Given the description of an element on the screen output the (x, y) to click on. 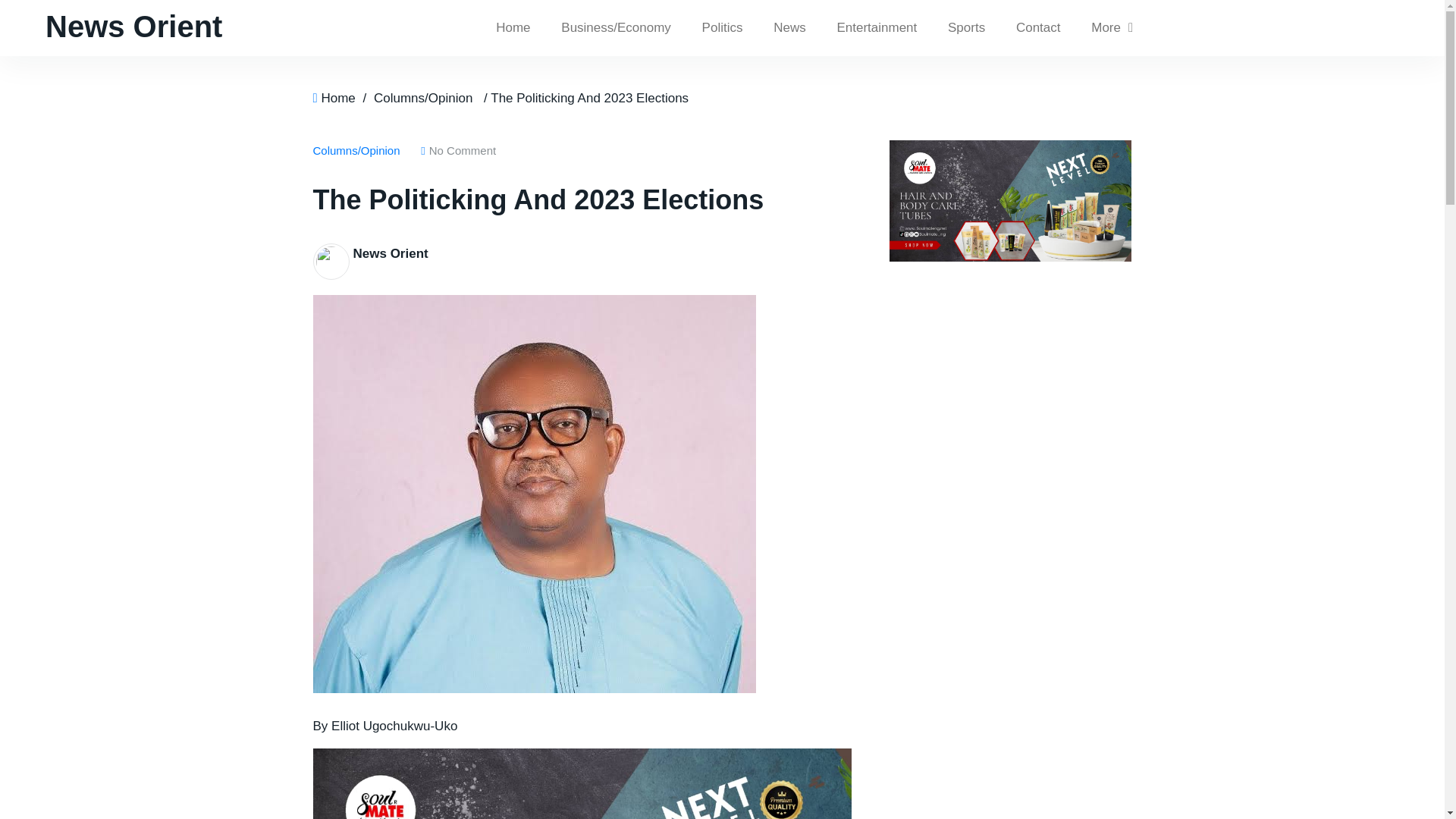
Entertainment (876, 28)
Home (512, 28)
Home (337, 97)
News (789, 28)
Sports (966, 28)
More (1112, 28)
News Orient (390, 253)
News Orient (133, 25)
Politics (722, 28)
Contact (1038, 28)
